Given the description of an element on the screen output the (x, y) to click on. 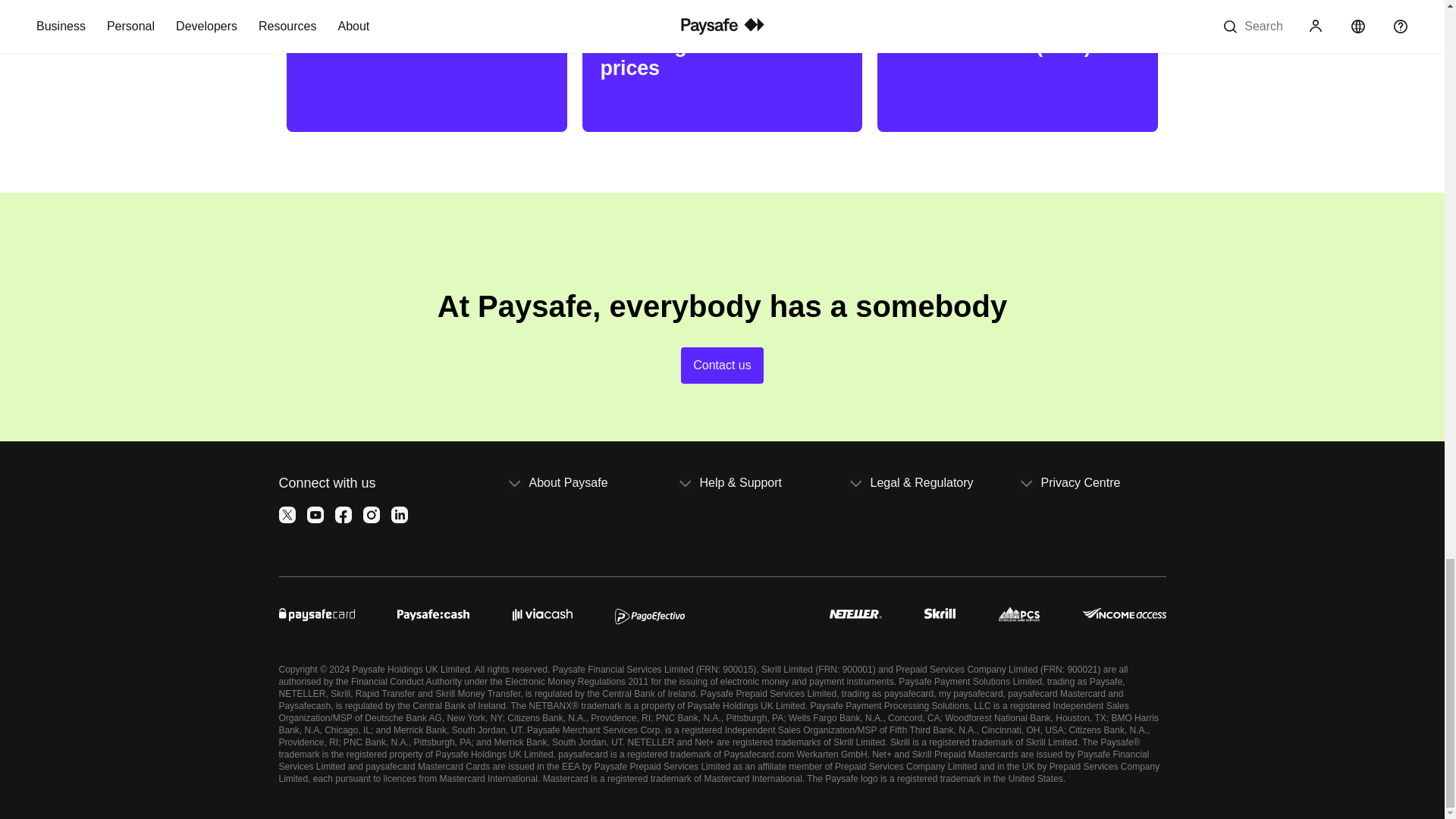
Income Access (1124, 612)
viacash (542, 612)
Neteller (855, 612)
Skrill (939, 612)
PCS (1018, 612)
Paysafecard (317, 612)
Pago Efectivo (649, 612)
Paysafecash (432, 612)
safety pay (757, 612)
